Given the description of an element on the screen output the (x, y) to click on. 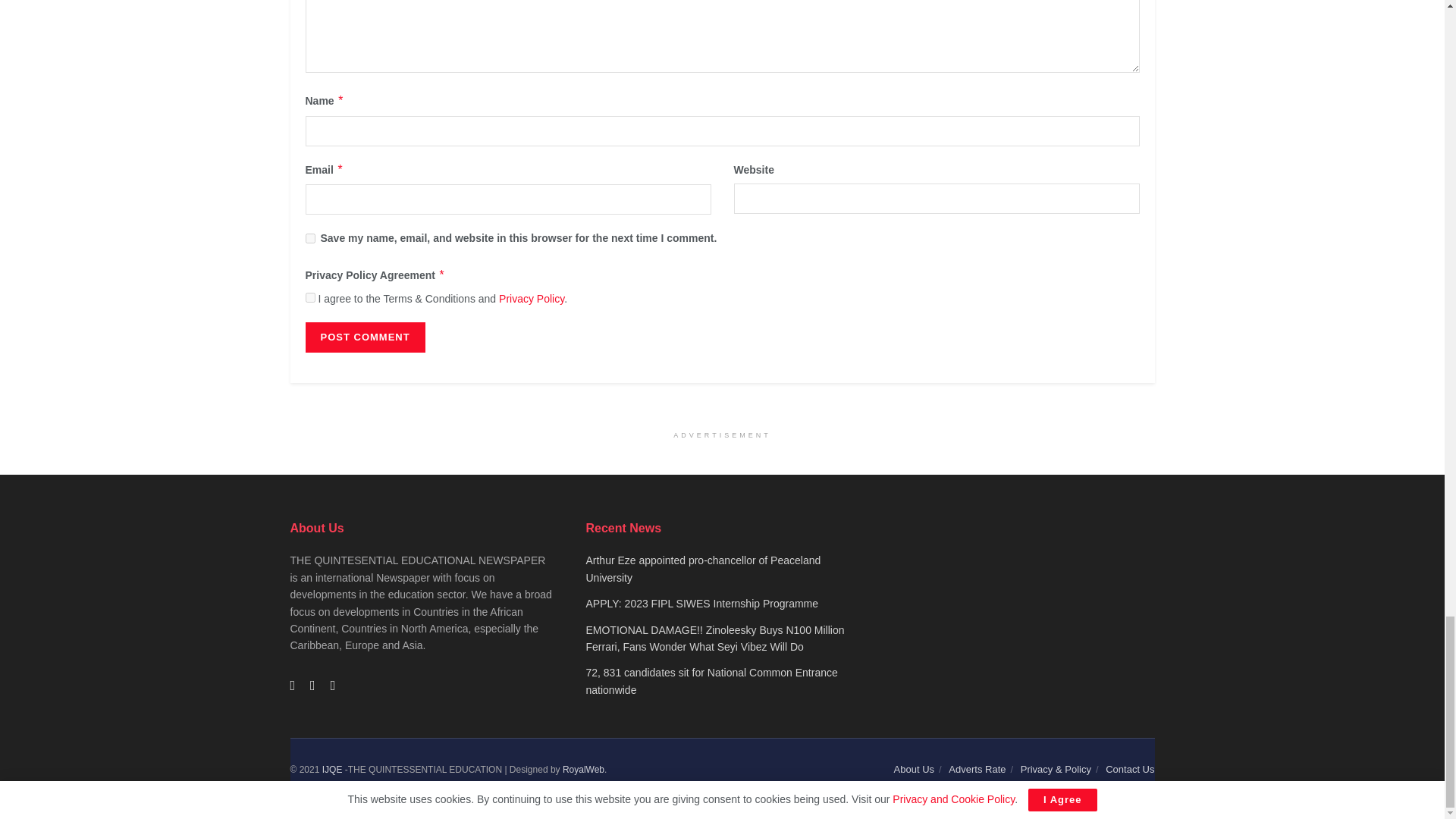
RoyalWeb (583, 769)
yes (309, 238)
THE QUINTESSENTIAL EDUCATION (331, 769)
on (309, 297)
Post Comment (364, 337)
